Given the description of an element on the screen output the (x, y) to click on. 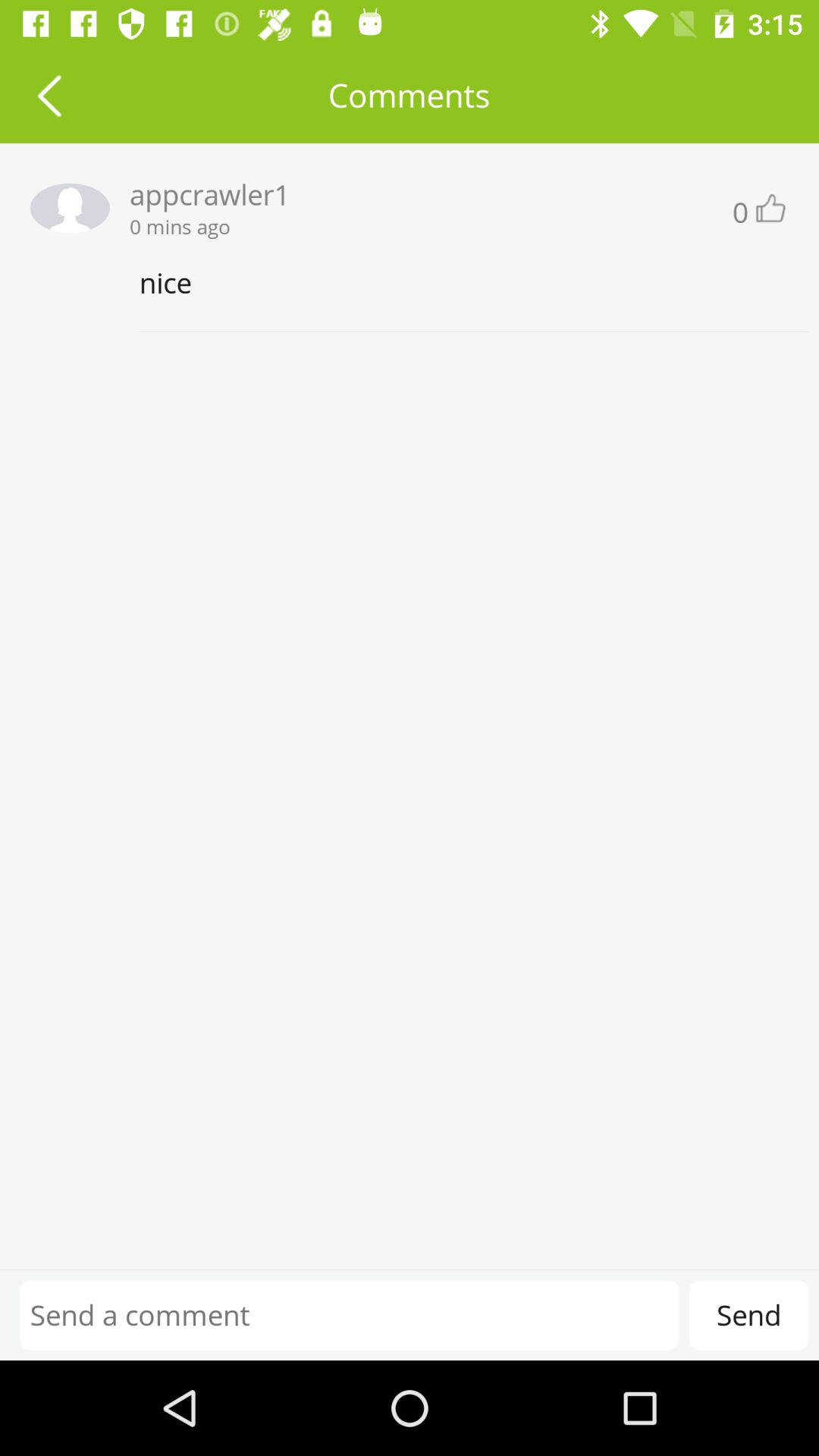
like (768, 207)
